Given the description of an element on the screen output the (x, y) to click on. 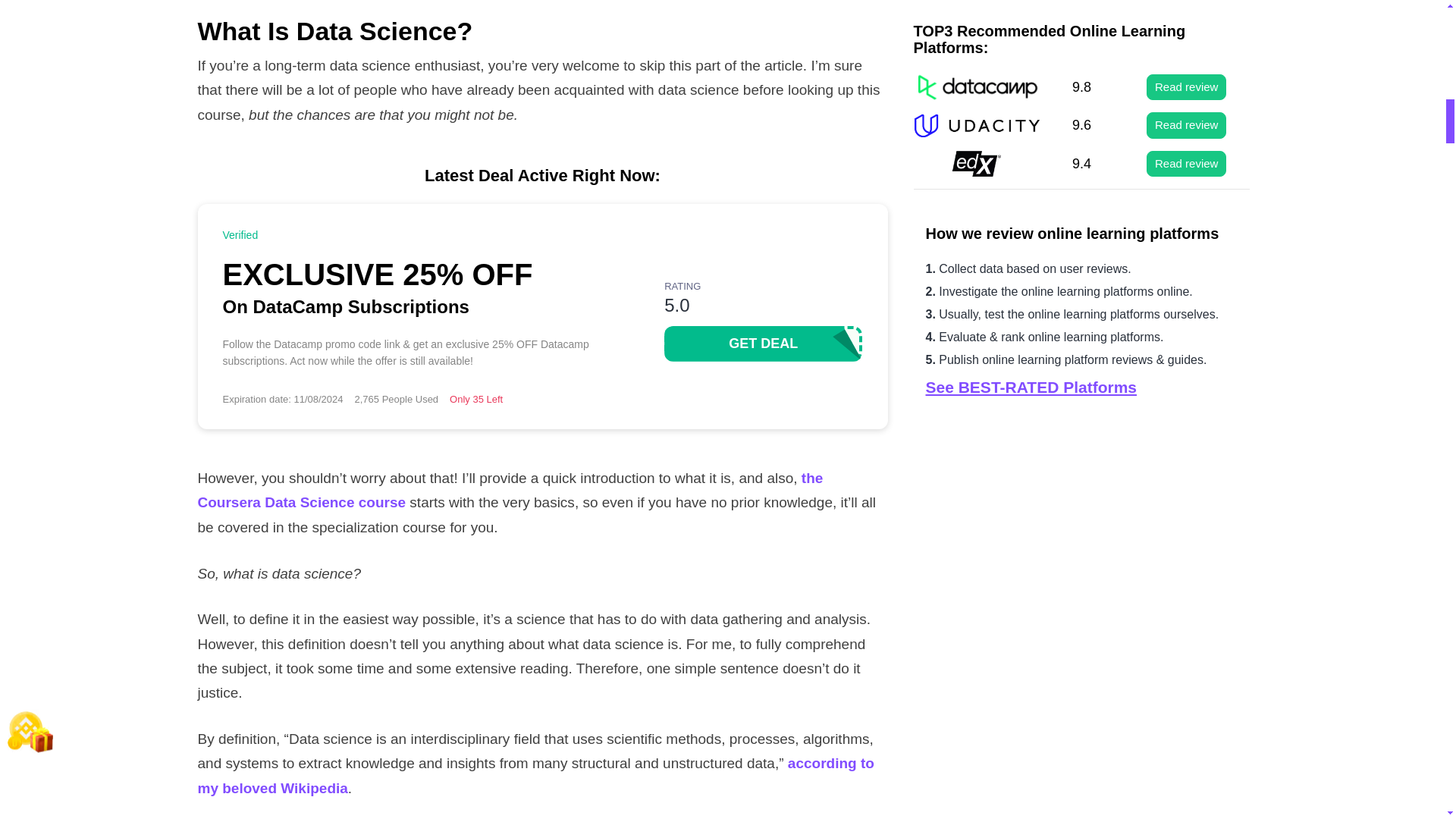
according to my beloved Wikipedia (534, 775)
GET DEAL (762, 343)
the Coursera Data Science course (509, 490)
